Given the description of an element on the screen output the (x, y) to click on. 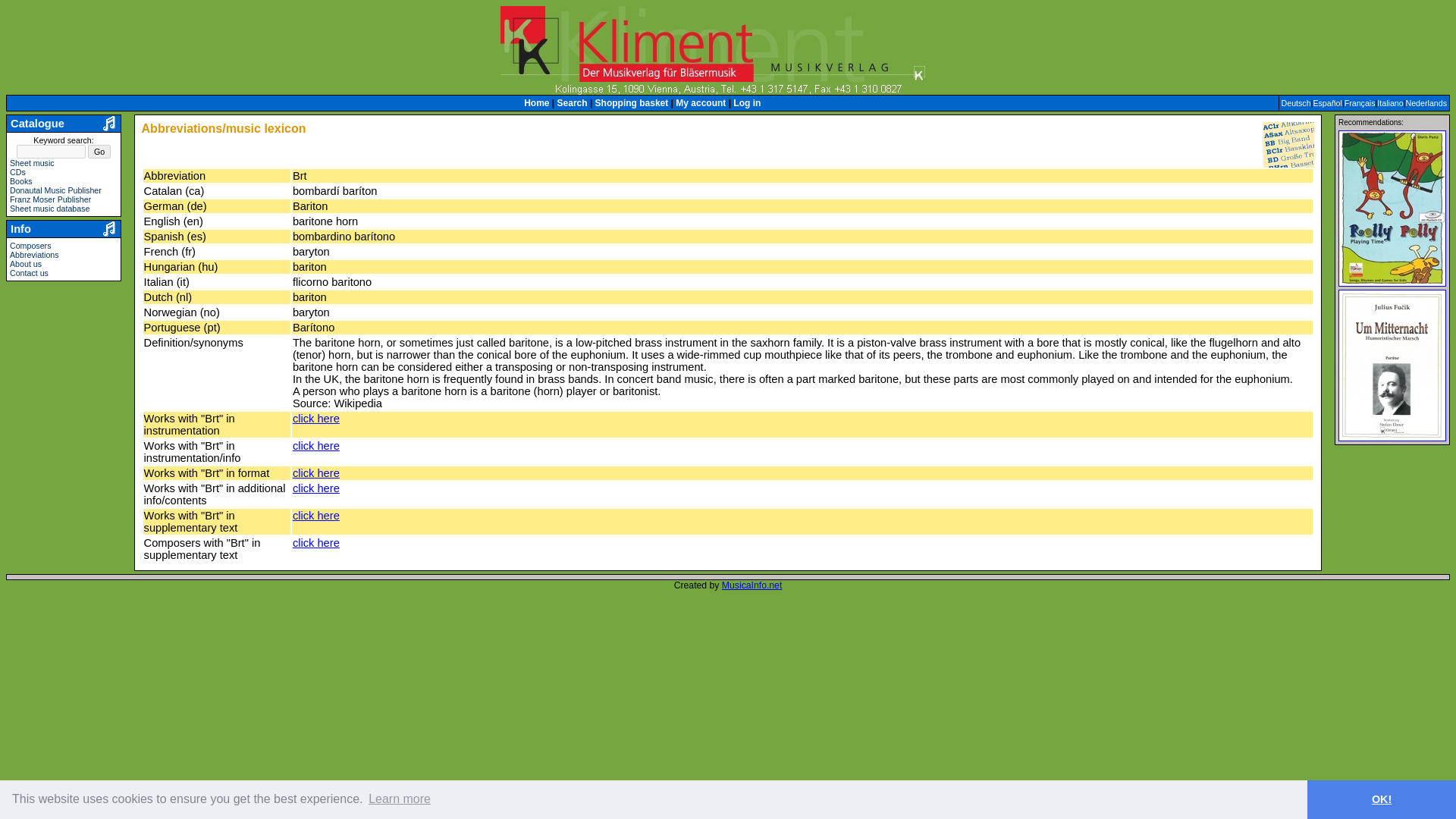
Composers (30, 245)
click here (315, 542)
Donautal Music Publisher (55, 189)
CDs (18, 171)
click here (315, 445)
Shopping basket (631, 102)
My account (700, 102)
Italiano (1390, 102)
click here (315, 472)
Search (572, 102)
